Given the description of an element on the screen output the (x, y) to click on. 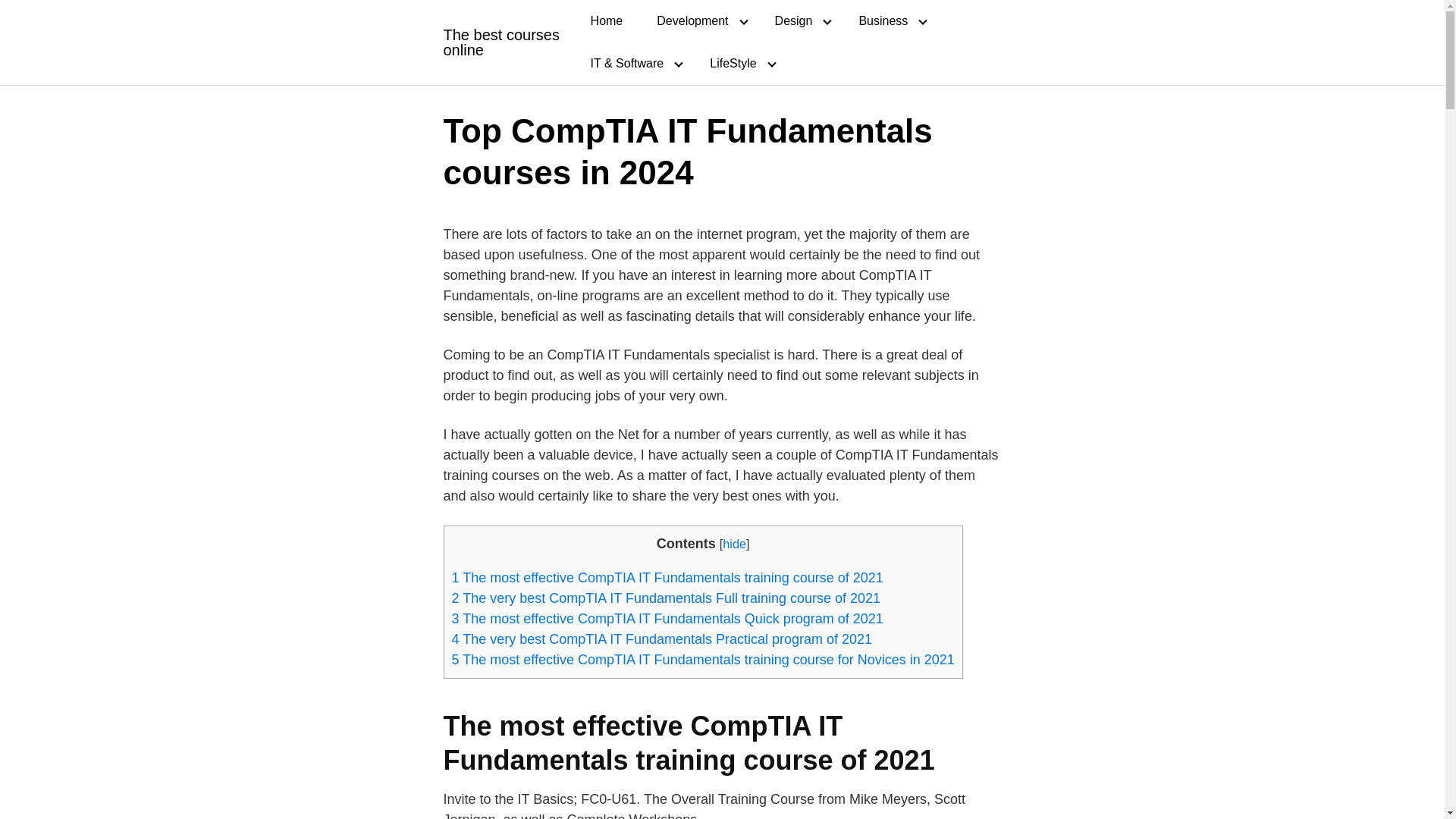
Development (698, 21)
Business (888, 21)
hide (733, 543)
Design (800, 21)
Home (607, 21)
The best courses online (502, 42)
